Given the description of an element on the screen output the (x, y) to click on. 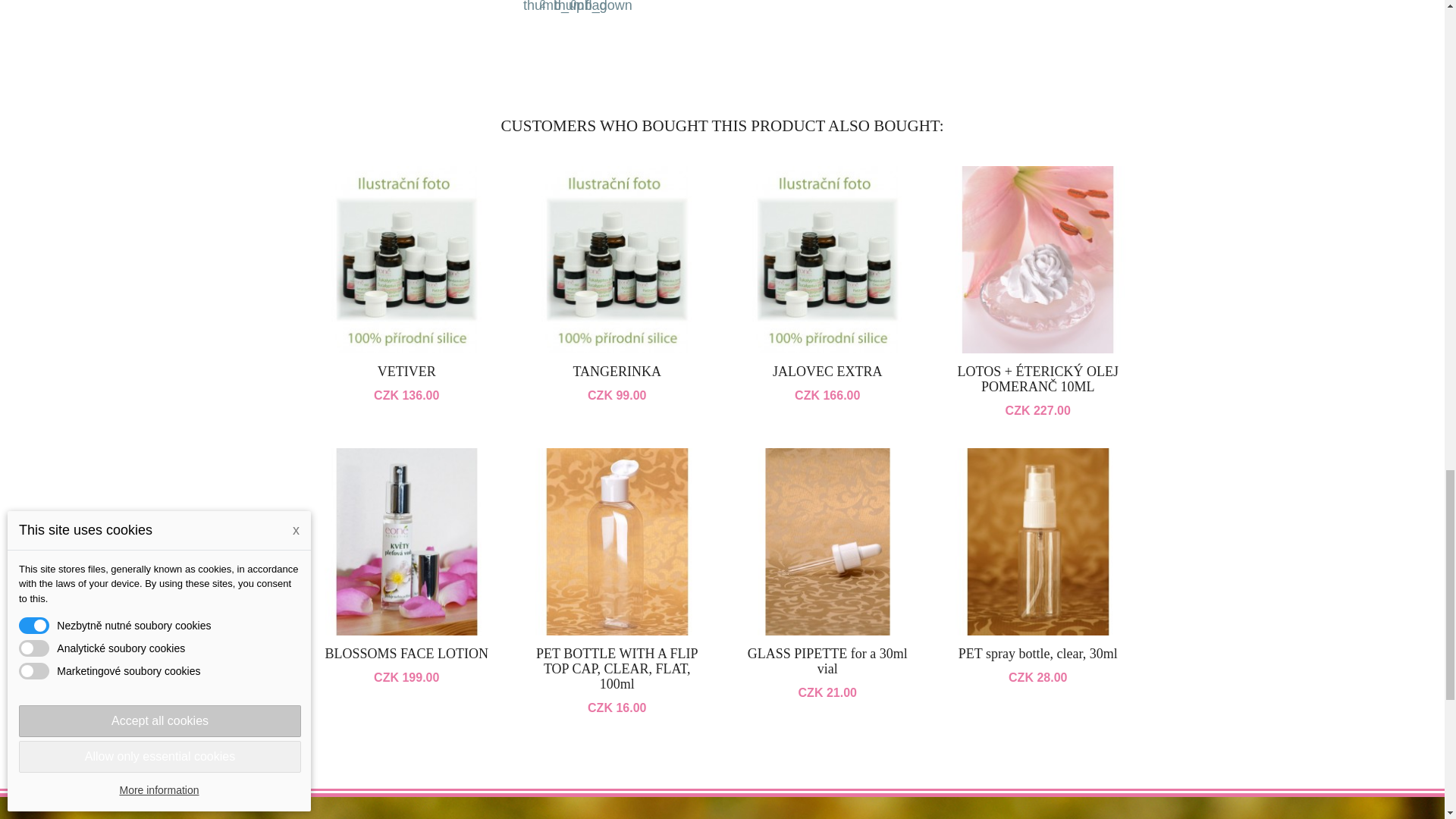
Report abuse (591, 4)
